Given the description of an element on the screen output the (x, y) to click on. 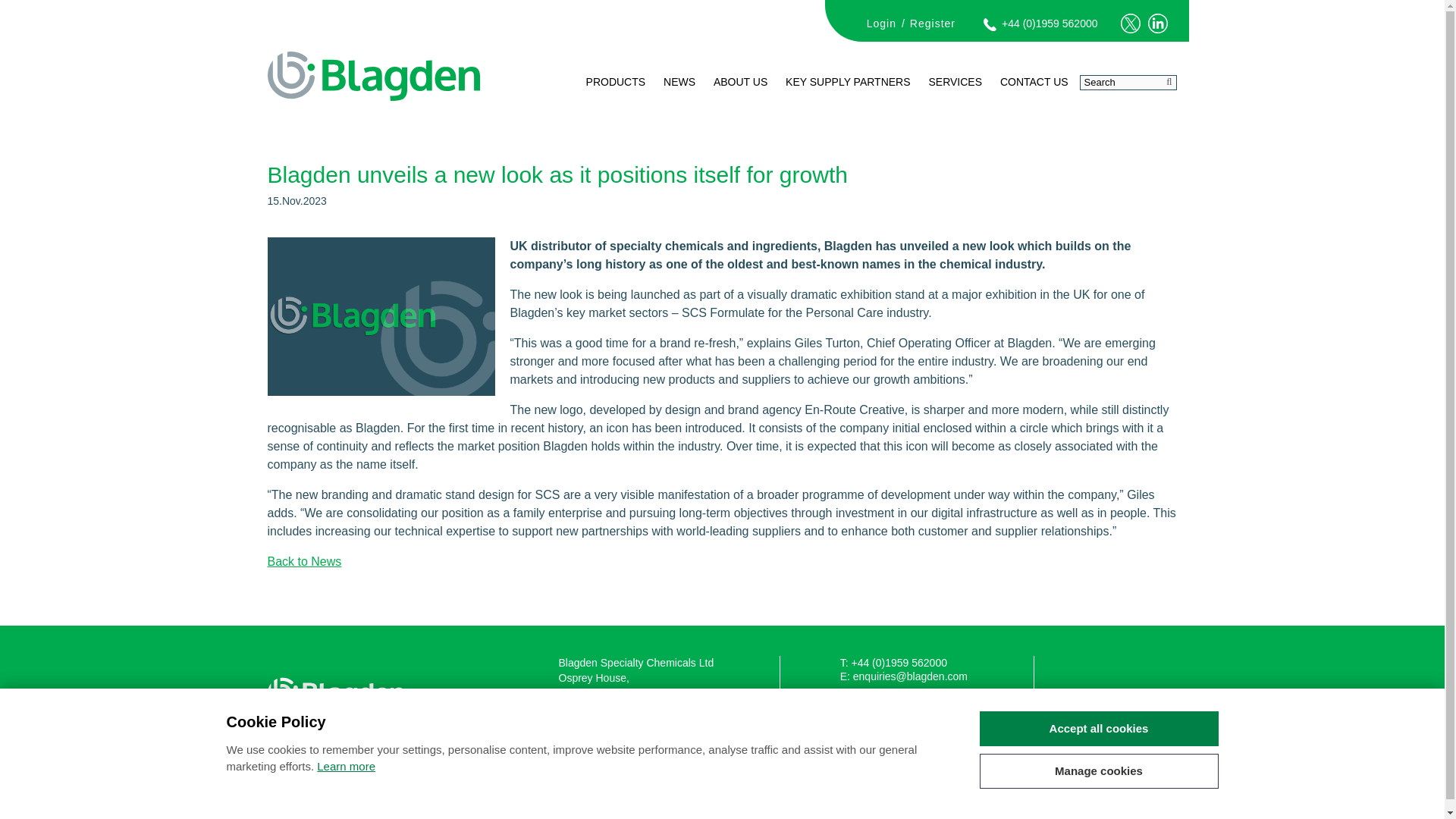
SERVICES (955, 99)
PRODUCTS (615, 99)
NEWS (679, 99)
CONTACT US (1033, 99)
KEY SUPPLY PARTNERS (847, 99)
Login (881, 23)
Register (932, 23)
ABOUT US (740, 99)
Back to News (303, 561)
